Given the description of an element on the screen output the (x, y) to click on. 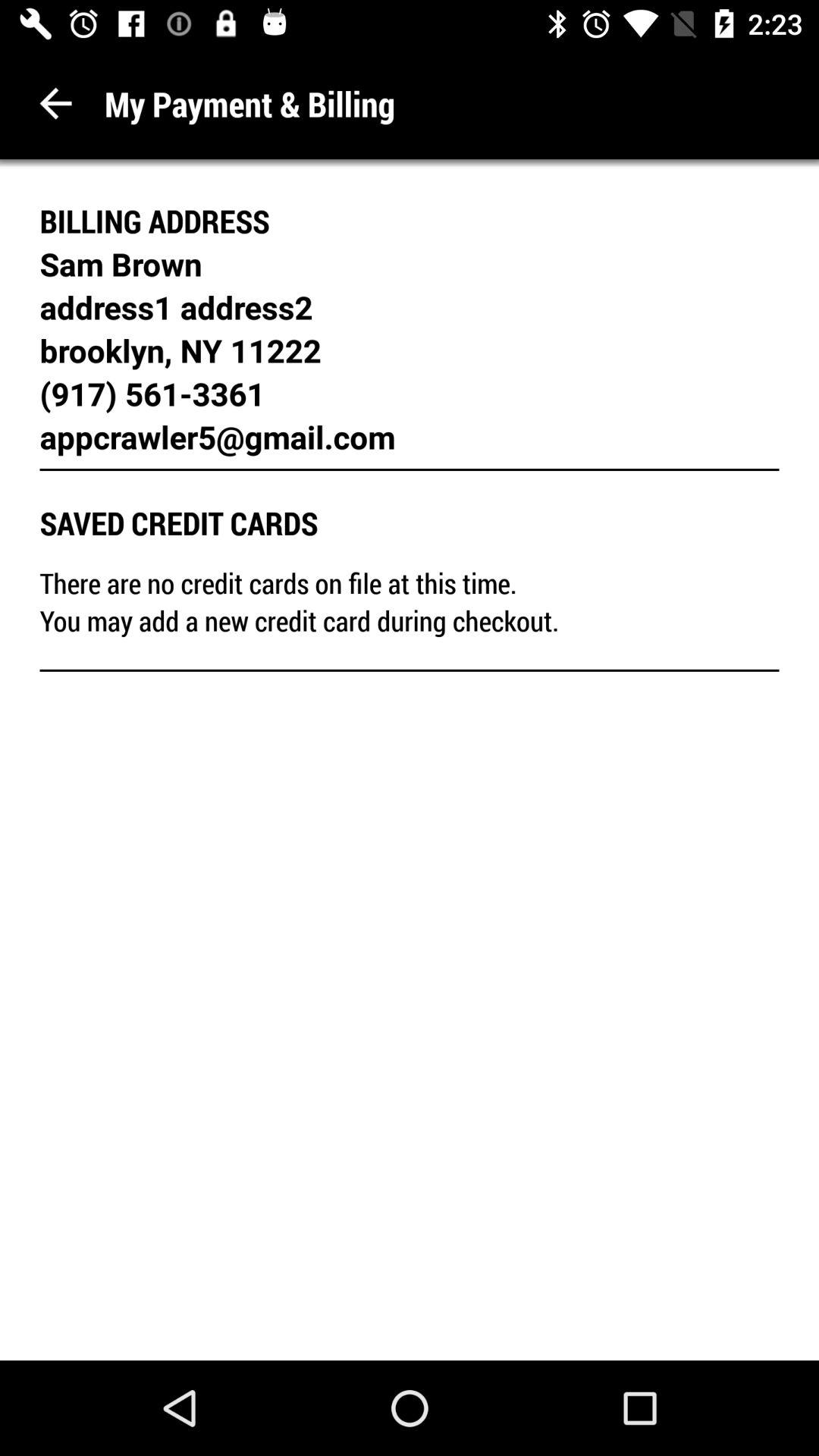
click the icon to the left of the my payment & billing (55, 103)
